Given the description of an element on the screen output the (x, y) to click on. 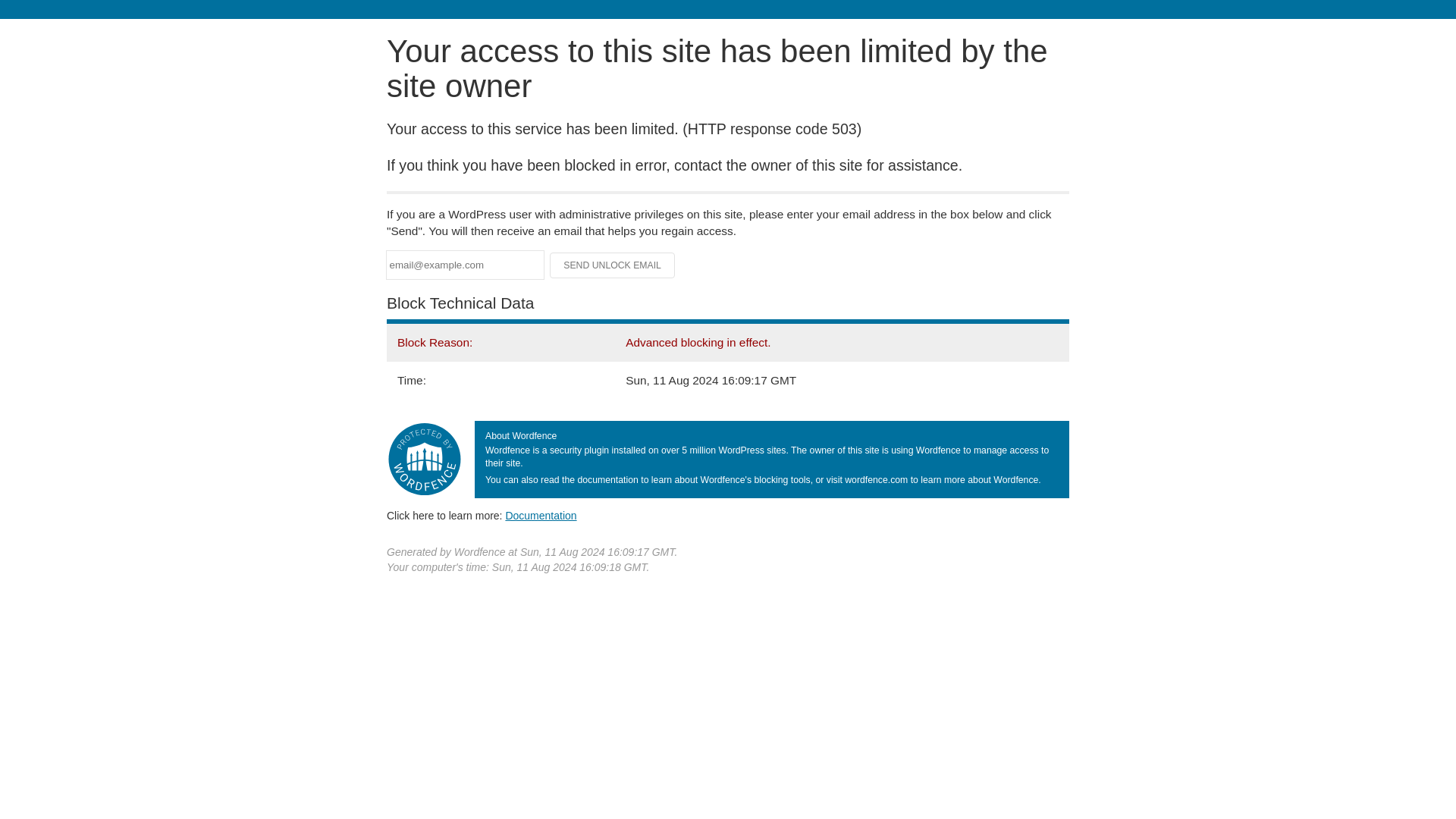
Send Unlock Email (612, 265)
Documentation (540, 515)
Send Unlock Email (612, 265)
